Given the description of an element on the screen output the (x, y) to click on. 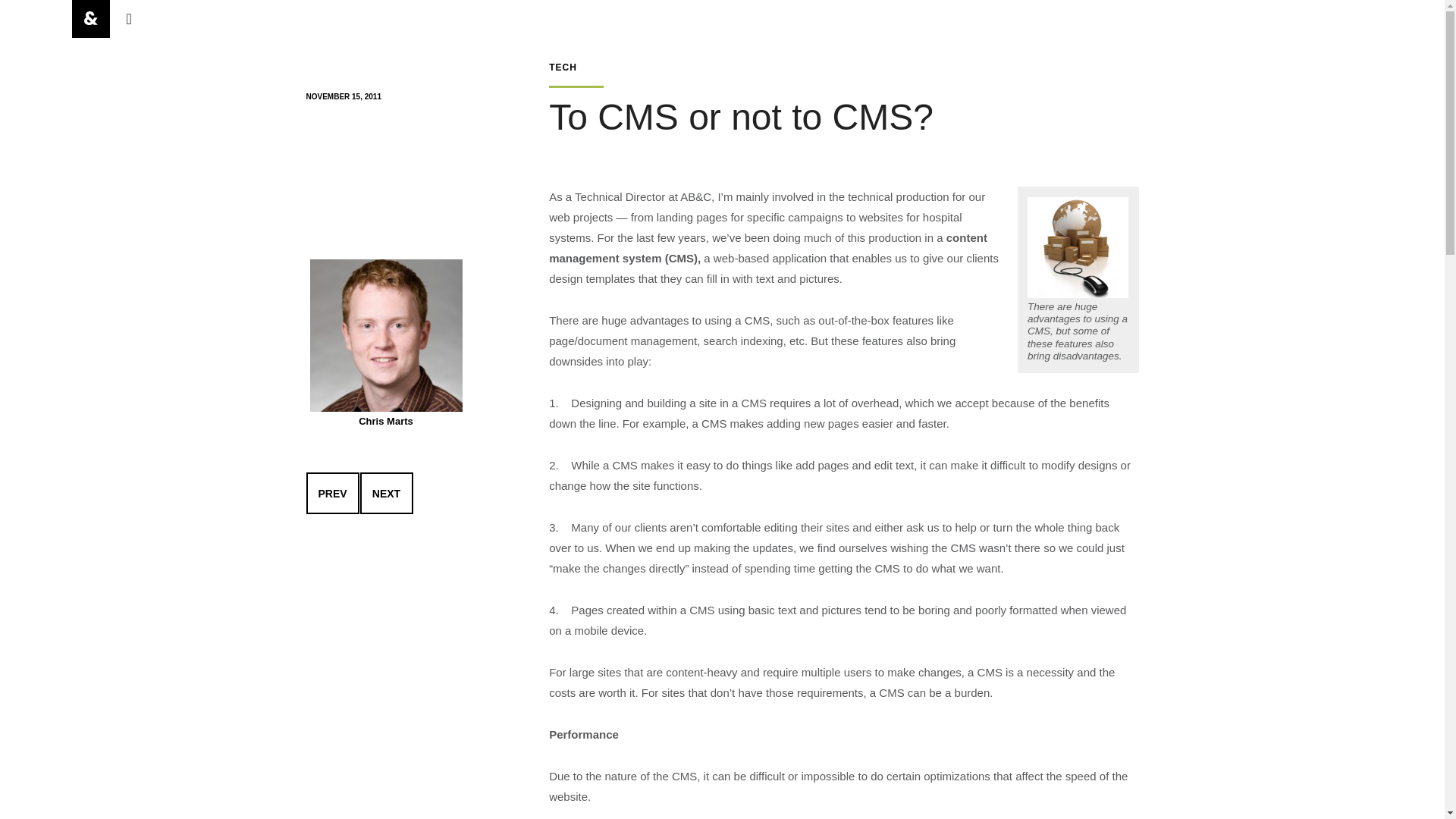
CMS (1077, 247)
